Given the description of an element on the screen output the (x, y) to click on. 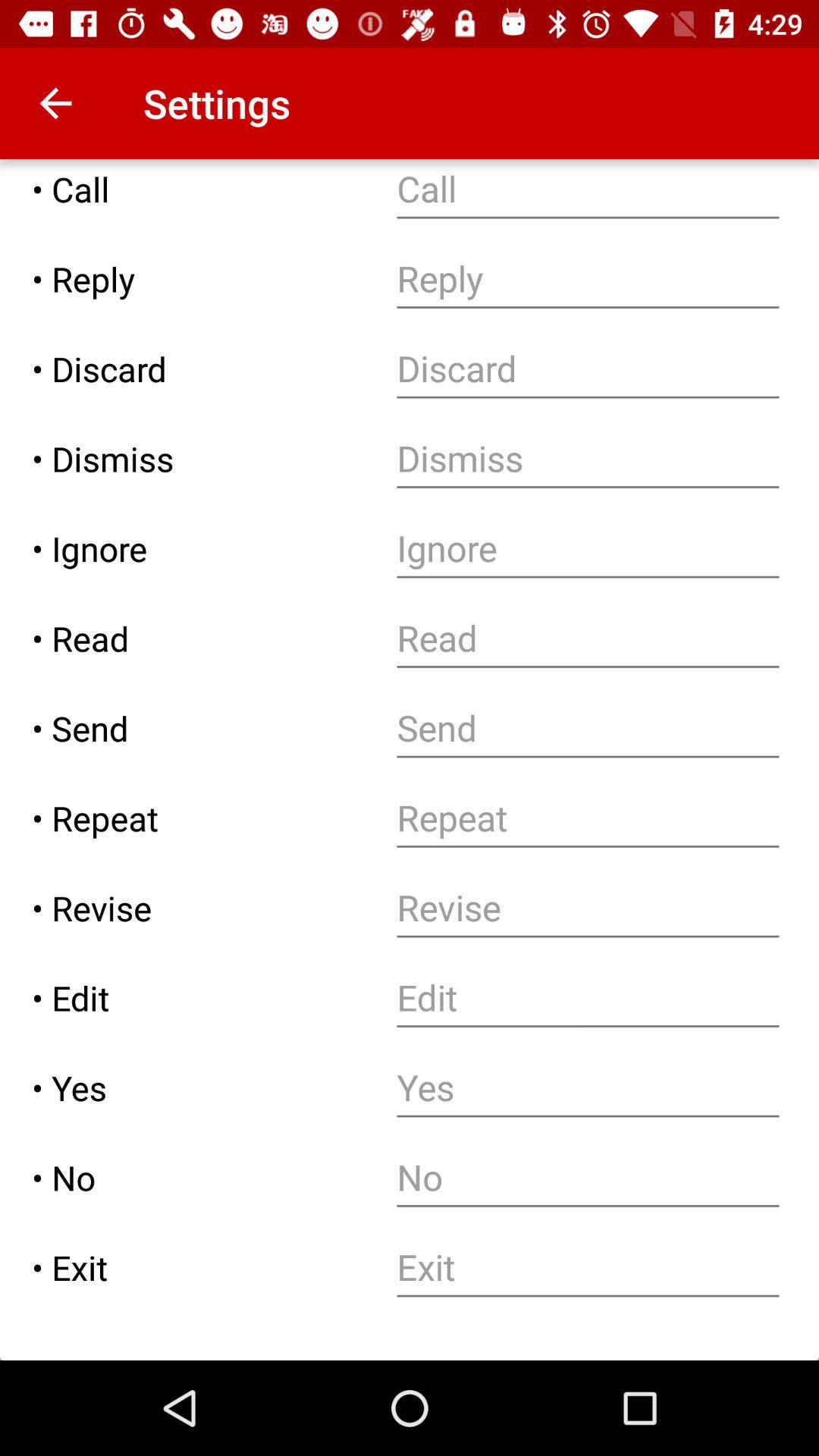
exit a phone call (588, 1267)
